Given the description of an element on the screen output the (x, y) to click on. 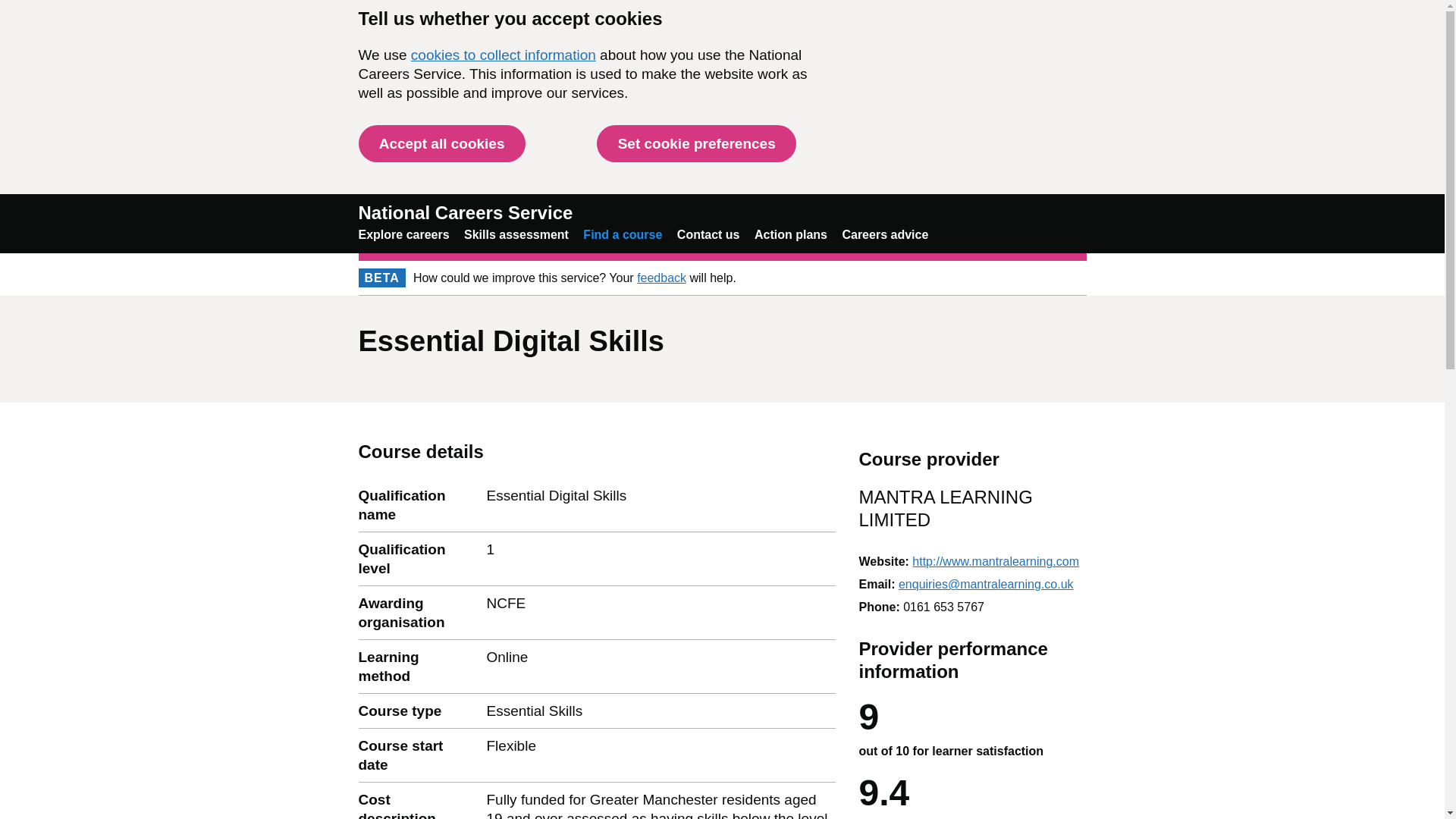
Find a course (622, 234)
feedback (661, 277)
Explore careers (403, 234)
Skills assessment (516, 234)
Careers advice (884, 234)
Accept all cookies (441, 143)
Set cookie preferences (695, 143)
Contact us (708, 234)
cookies to collect information (502, 54)
Action plans (790, 234)
